Given the description of an element on the screen output the (x, y) to click on. 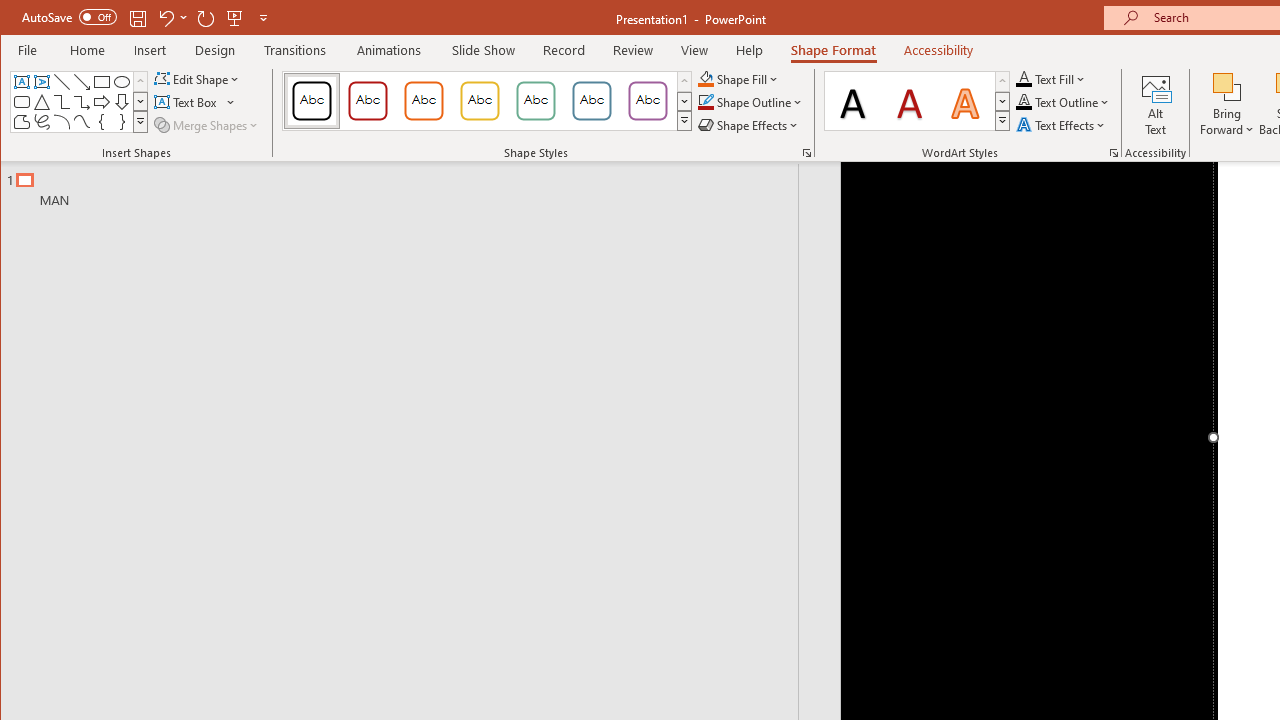
Merge Shapes (207, 124)
Fill: Dark Red, Accent color 1; Shadow (909, 100)
Colored Outline - Blue-Gray, Accent 5 (591, 100)
Shape Effects (750, 124)
Alt Text (1156, 104)
